Given the description of an element on the screen output the (x, y) to click on. 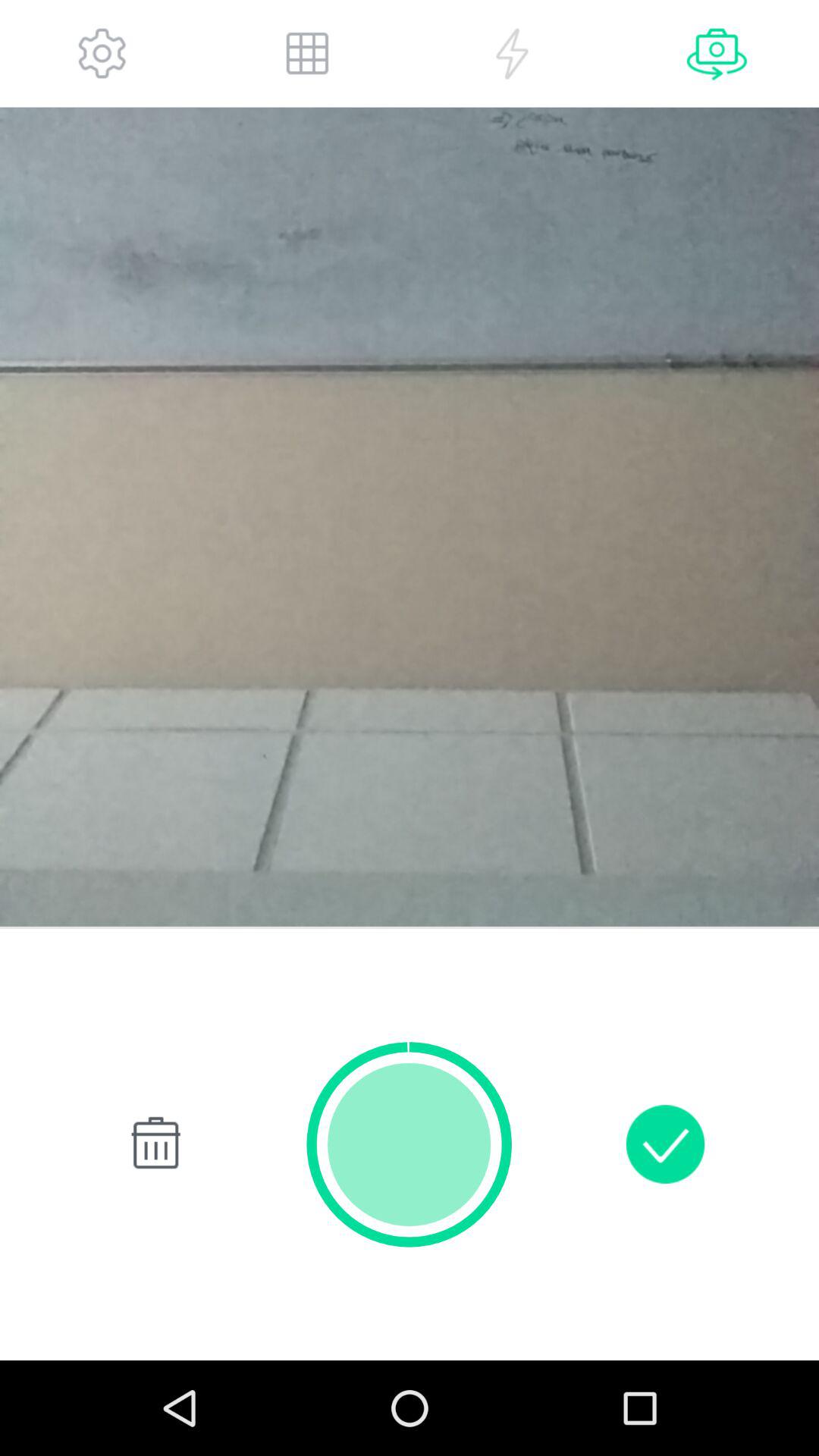
reverse camera view (716, 53)
